Given the description of an element on the screen output the (x, y) to click on. 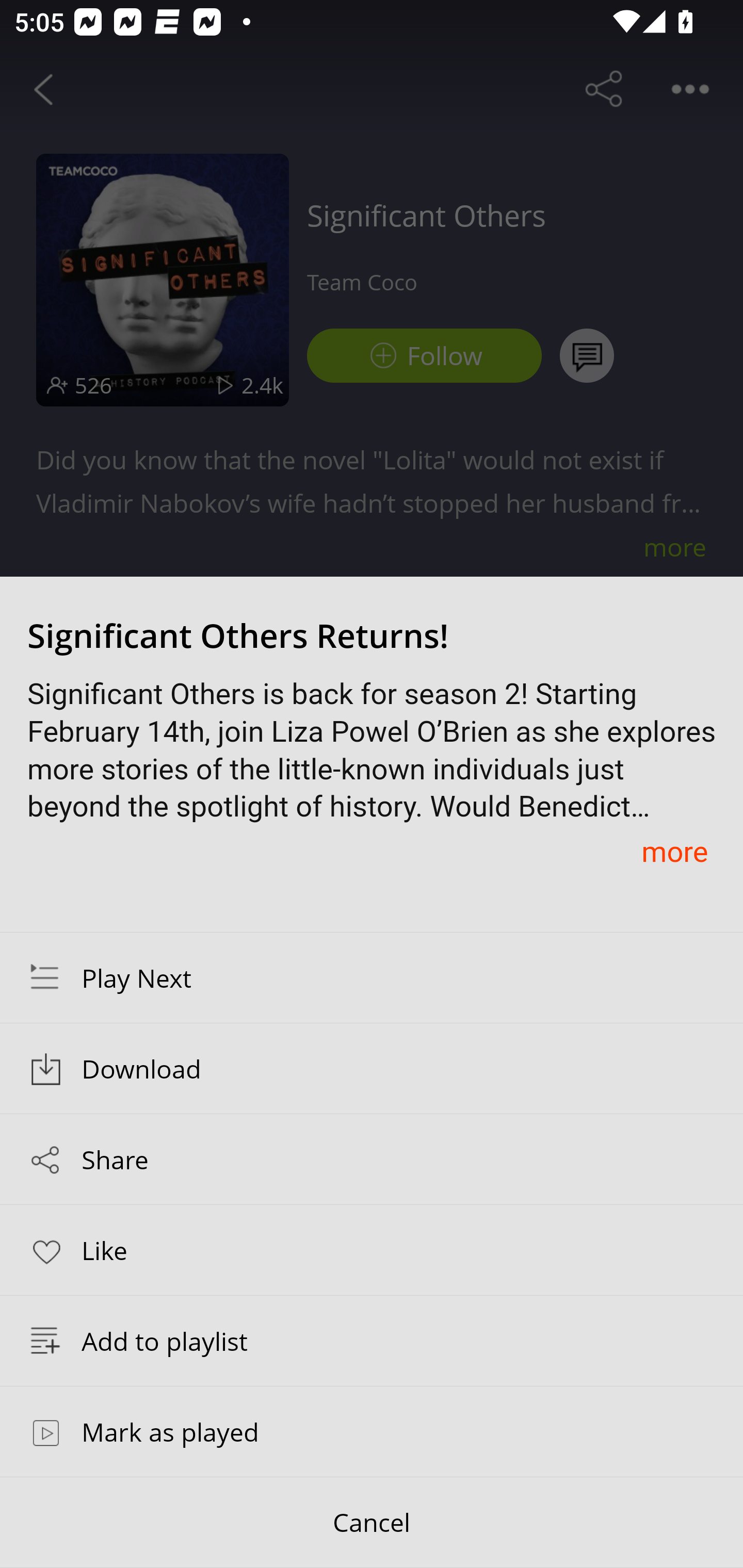
more (674, 851)
Play Next (371, 977)
Download (371, 1068)
Share (371, 1159)
Like (371, 1249)
Add to playlist (371, 1340)
Mark as played (371, 1431)
Cancel (371, 1522)
